Given the description of an element on the screen output the (x, y) to click on. 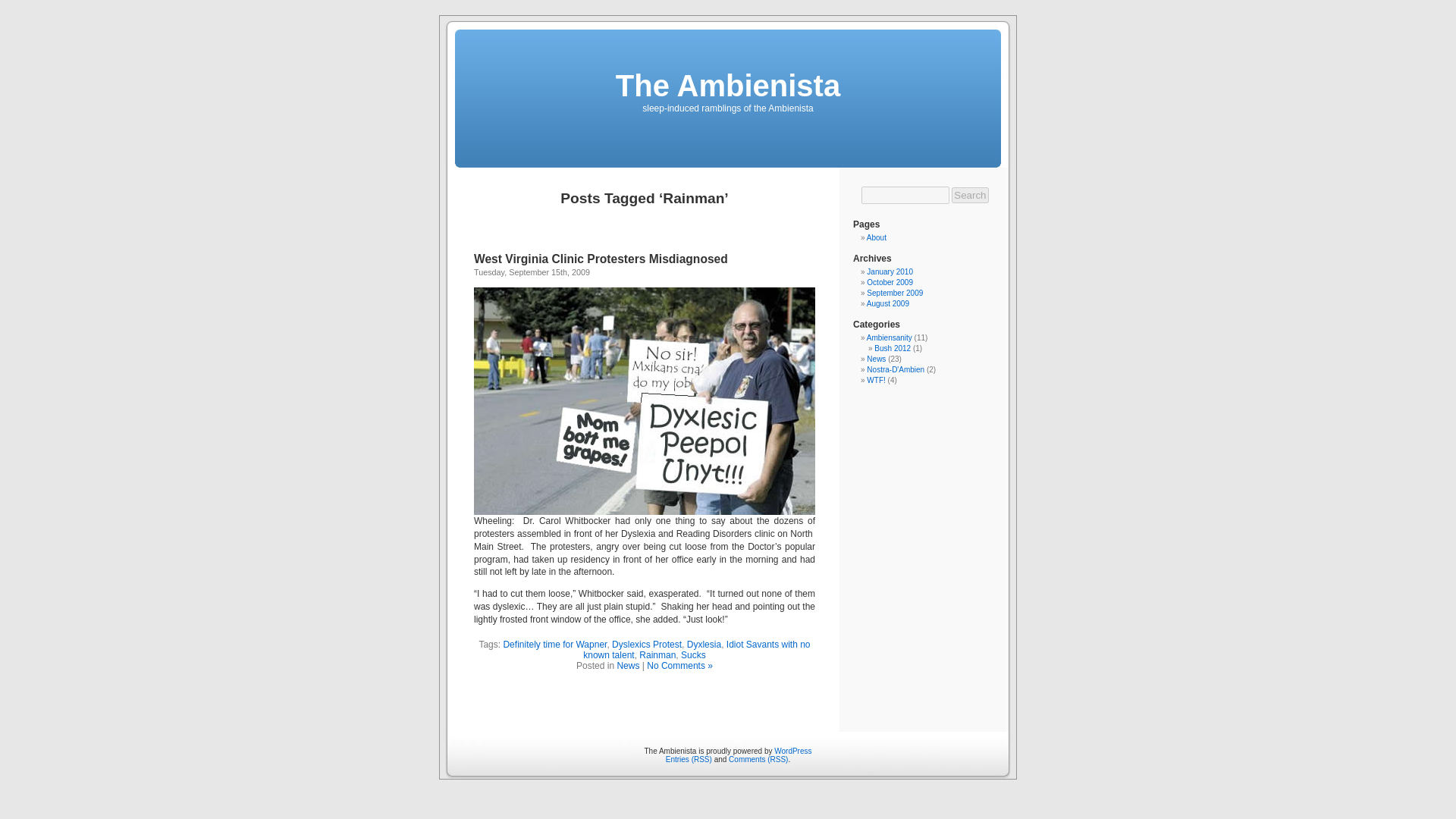
Ambiensanity (889, 337)
Rainman (657, 655)
September 2009 (894, 293)
Dyxlesia (703, 644)
Search (970, 195)
Bush 2012 (893, 347)
The Ambienista (727, 85)
About (876, 237)
Sucks (693, 655)
protest (644, 401)
